Given the description of an element on the screen output the (x, y) to click on. 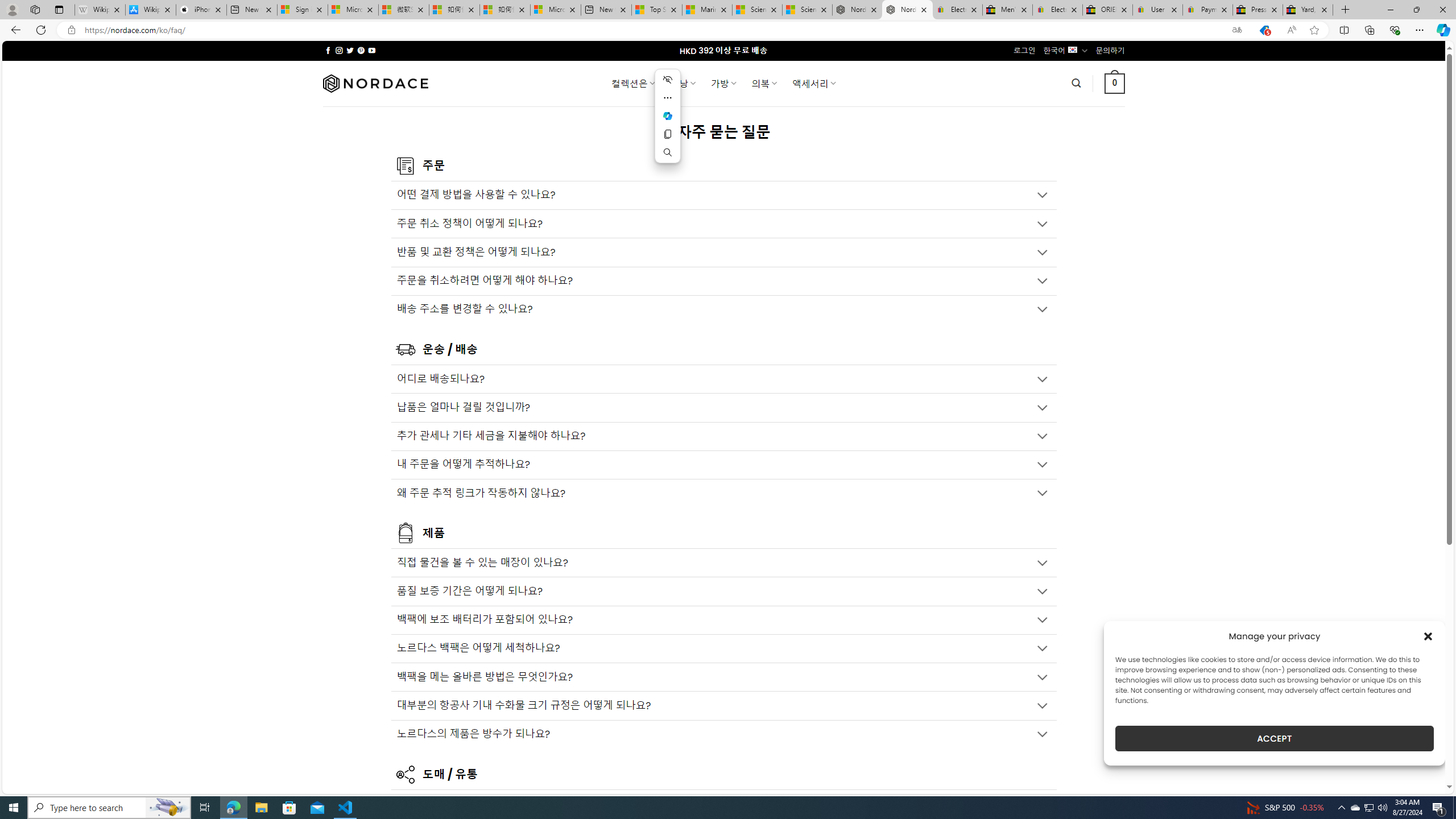
Mini menu on text selection (668, 122)
  0   (1115, 83)
 0  (1115, 83)
Ask Copilot (667, 116)
Press Room - eBay Inc. (1257, 9)
